Given the description of an element on the screen output the (x, y) to click on. 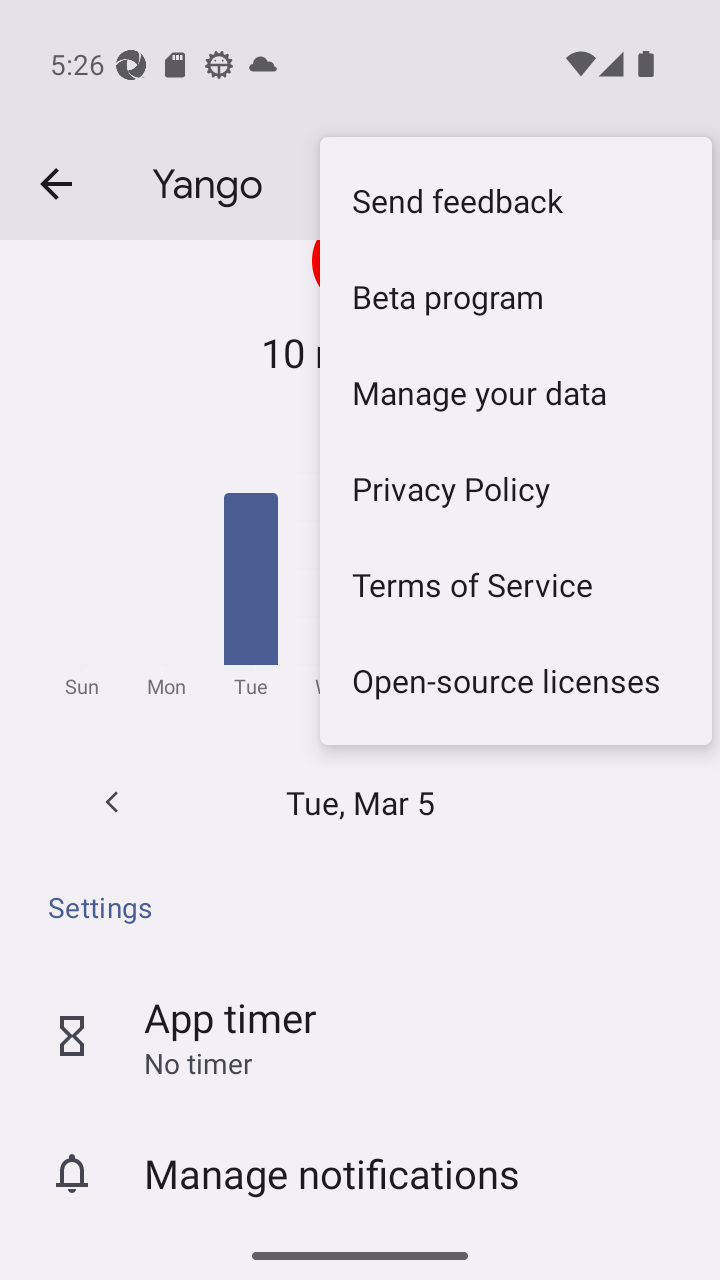
Send feedback (515, 201)
Beta program (515, 297)
Manage your data (515, 393)
Privacy Policy (515, 489)
Terms of Service (515, 585)
Open-source licenses (515, 681)
